Given the description of an element on the screen output the (x, y) to click on. 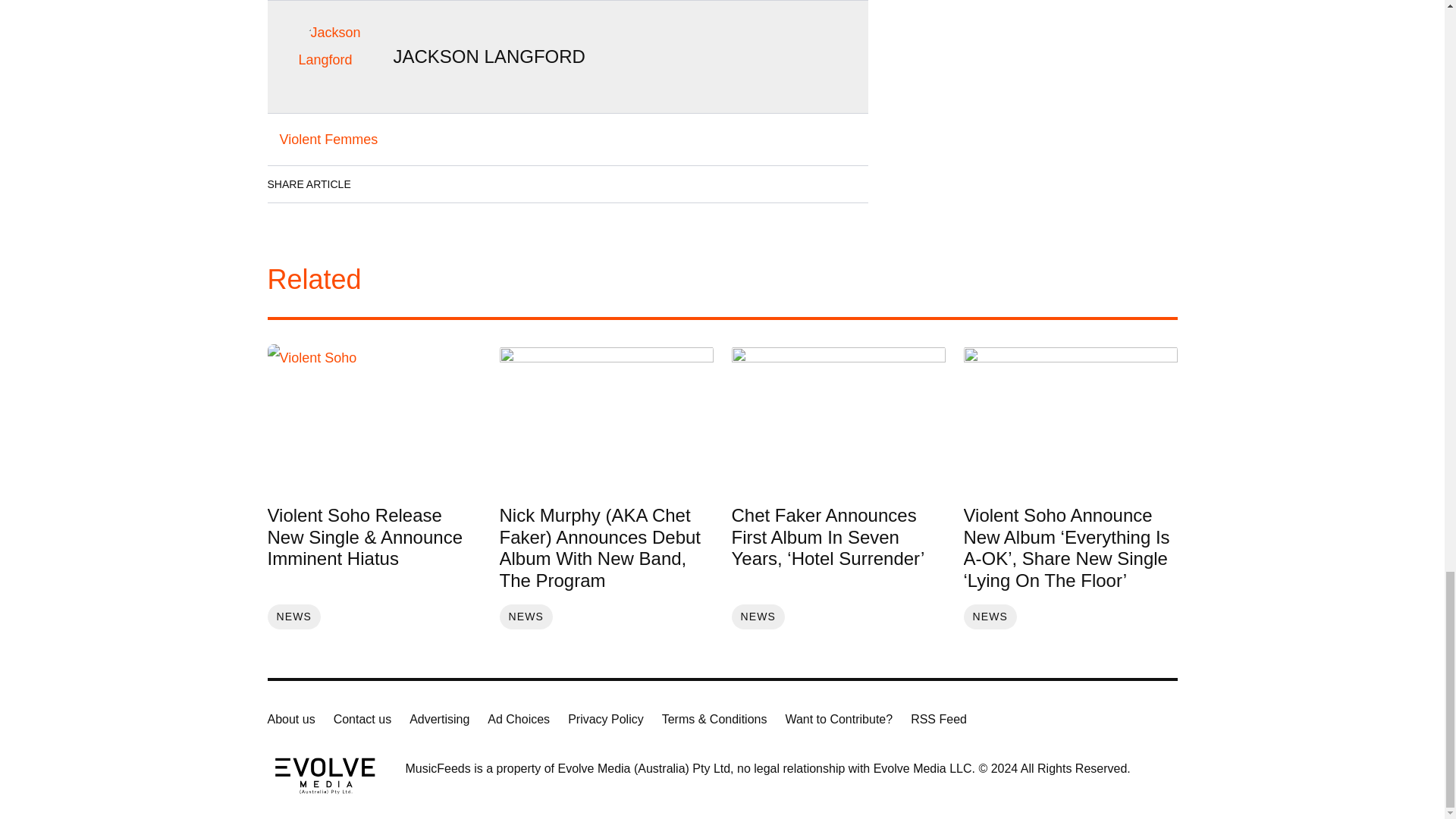
Facebook (377, 183)
Pinterest (505, 183)
Violent Femmes (328, 139)
LinkedIn (420, 183)
Twitter (463, 183)
JACKSON LANGFORD (489, 55)
